Given the description of an element on the screen output the (x, y) to click on. 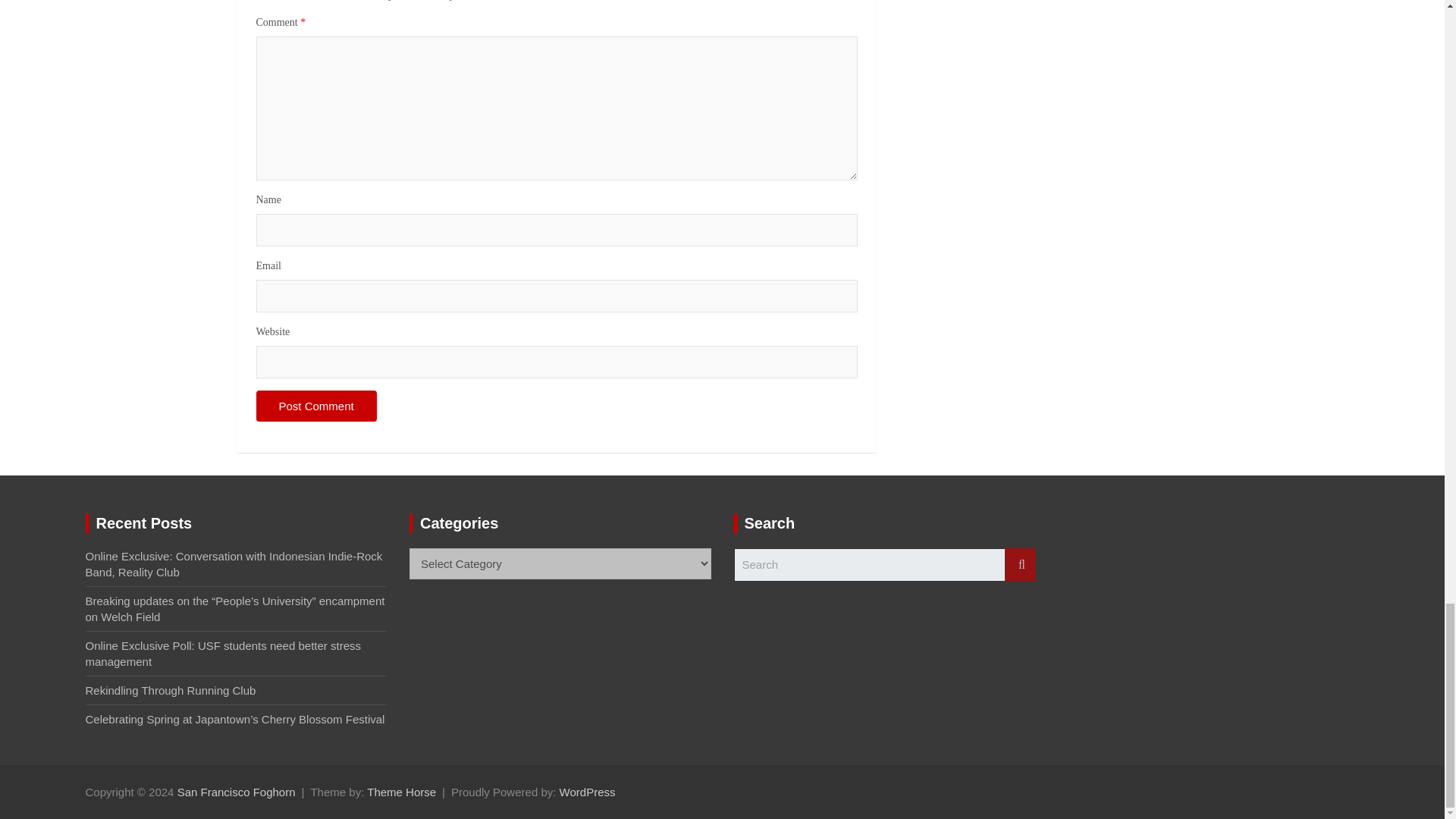
Post Comment (316, 405)
Post Comment (316, 405)
Theme Horse (400, 791)
San Francisco Foghorn (236, 791)
WordPress (587, 791)
